Given the description of an element on the screen output the (x, y) to click on. 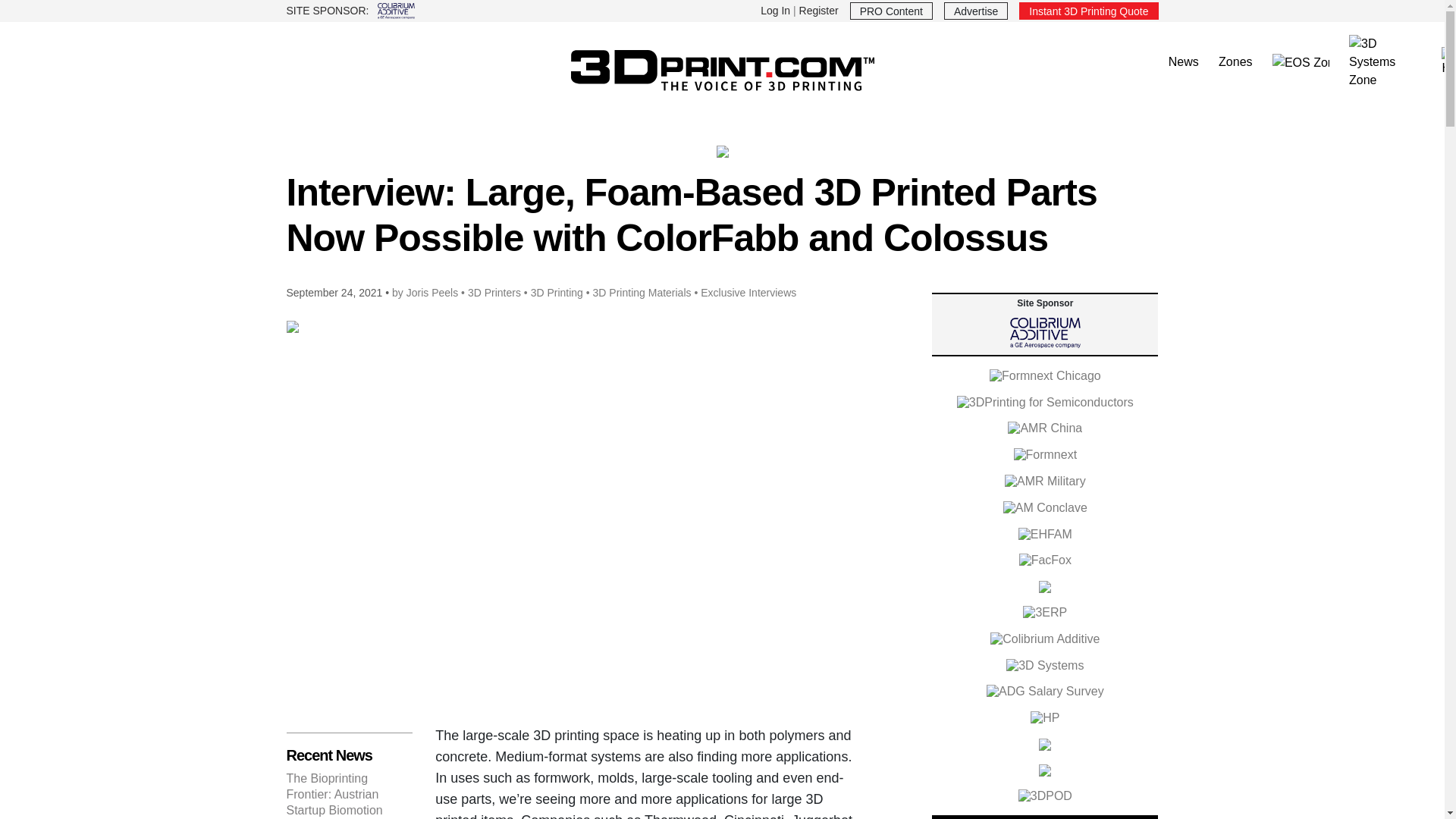
Log In (775, 10)
SITE SPONSOR: (498, 10)
Instant 3D Printing Quote (1088, 10)
News (1183, 62)
Advertise (975, 10)
PRO Content (891, 10)
Zones (1235, 62)
Register (818, 10)
